Given the description of an element on the screen output the (x, y) to click on. 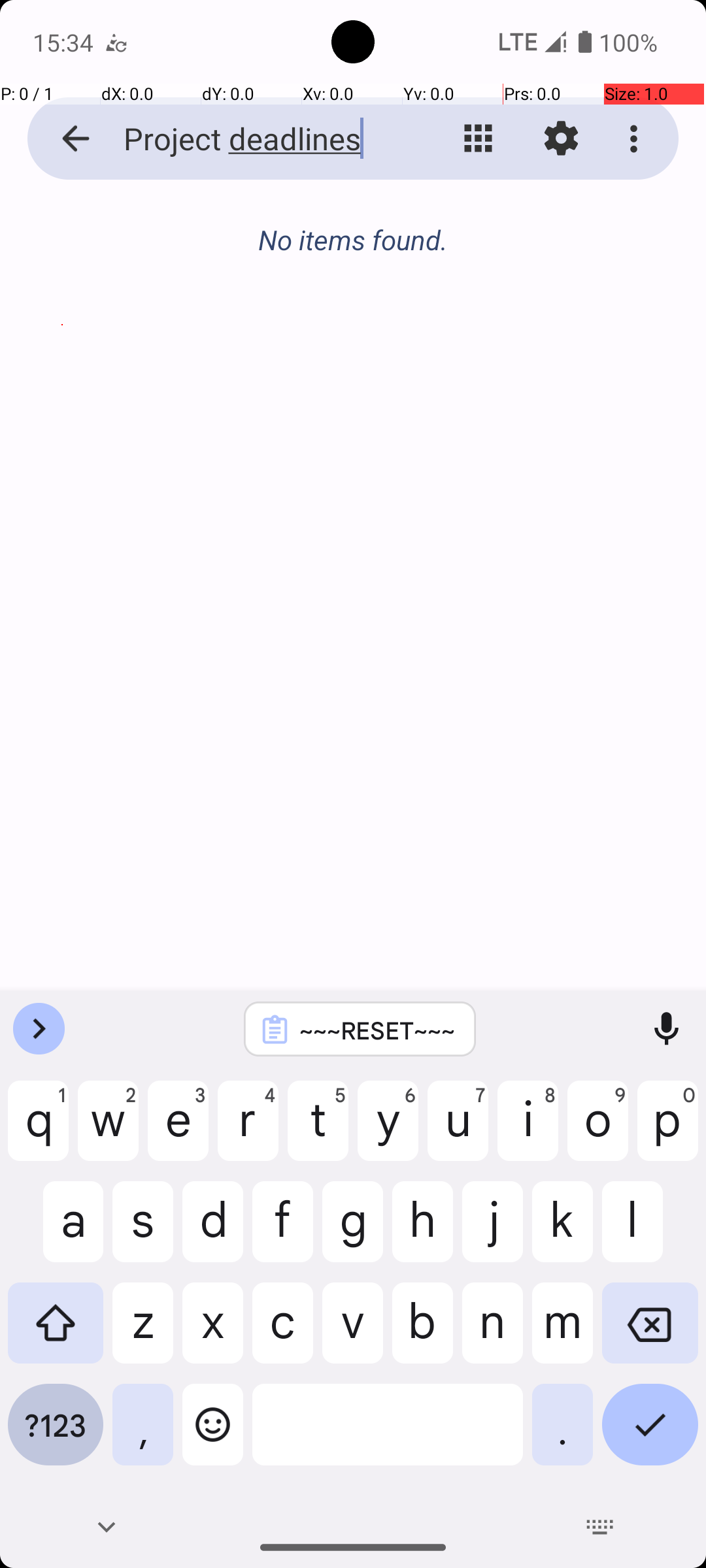
Project deadlines Element type: android.widget.EditText (252, 138)
08:00 AM Element type: android.widget.TextView (62, 324)
09:00 AM Element type: android.widget.TextView (62, 427)
02:00 PM Element type: android.widget.TextView (62, 903)
